Given the description of an element on the screen output the (x, y) to click on. 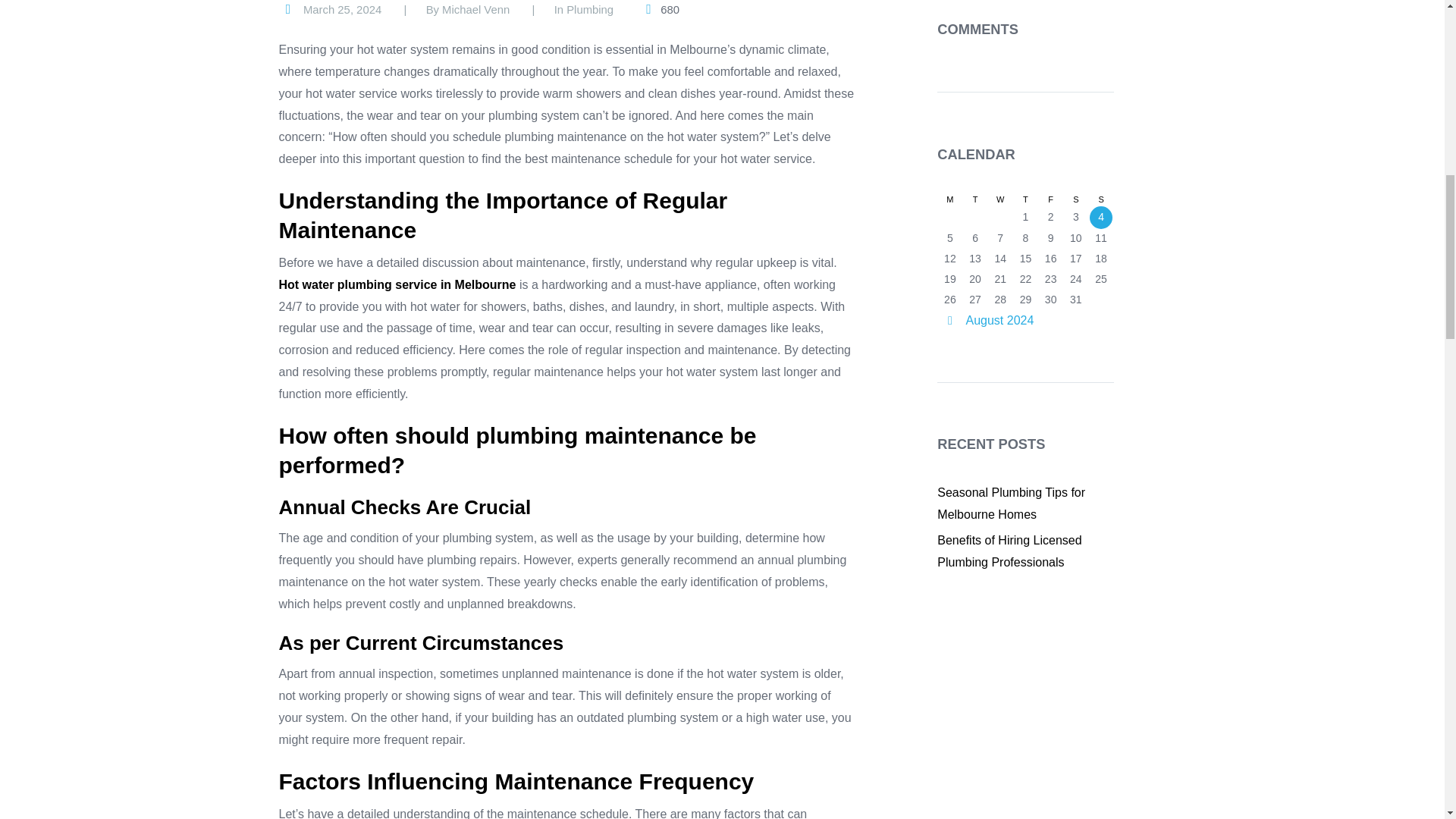
Friday (1050, 200)
Views - 680 (659, 10)
Tuesday (974, 200)
Saturday (1074, 200)
Sunday (1100, 200)
Wednesday (1000, 200)
Thursday (1025, 200)
Monday (949, 200)
